Given the description of an element on the screen output the (x, y) to click on. 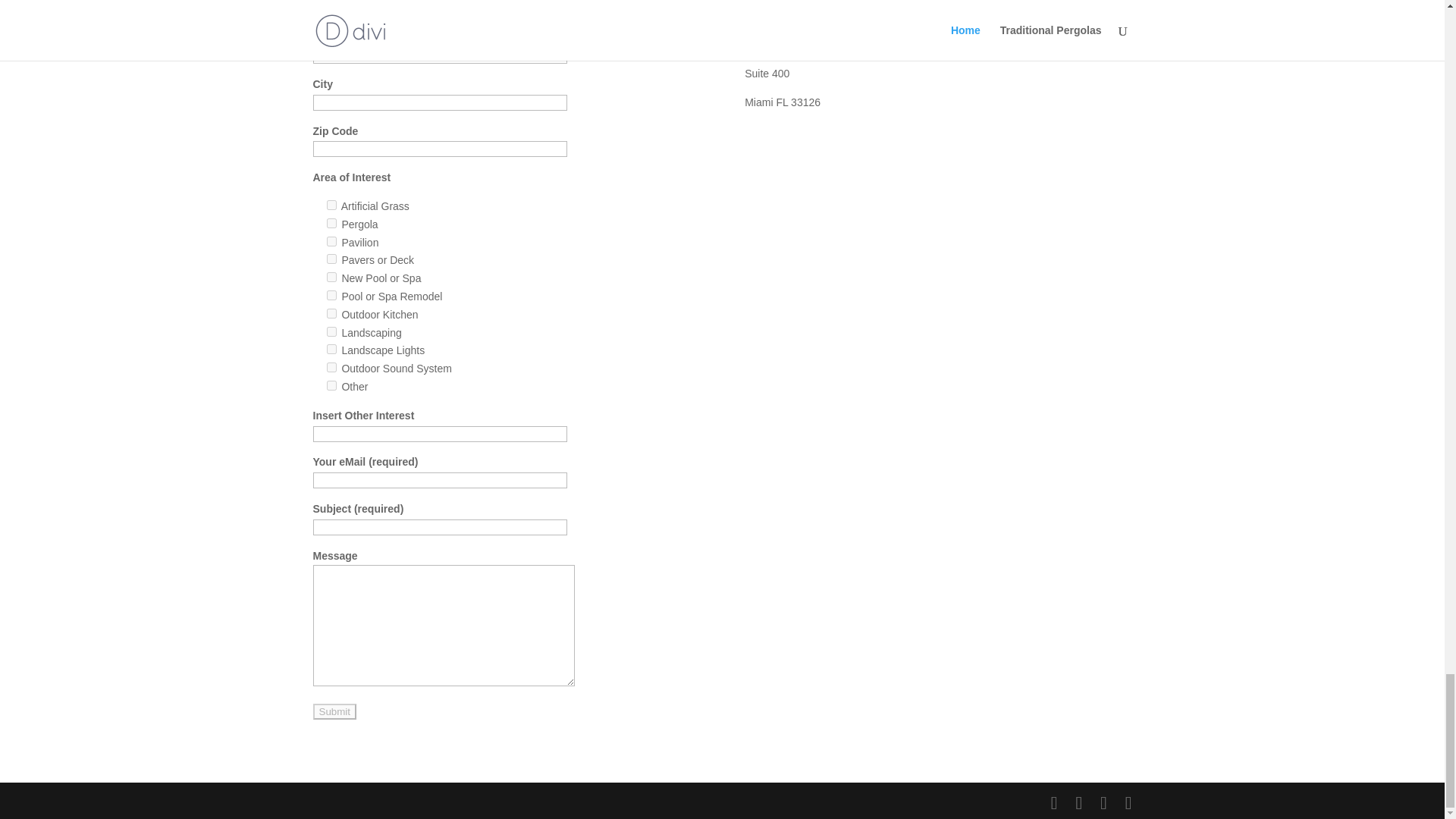
Pool or Spa Remodel (331, 295)
Artificial Grass (331, 204)
Outdoor Kitchen (331, 313)
Submit (334, 711)
New Pool or Spa (331, 276)
Landscaping (331, 331)
Pavers or Deck (331, 258)
Outdoor Sound System (331, 367)
Other (331, 385)
